Given the description of an element on the screen output the (x, y) to click on. 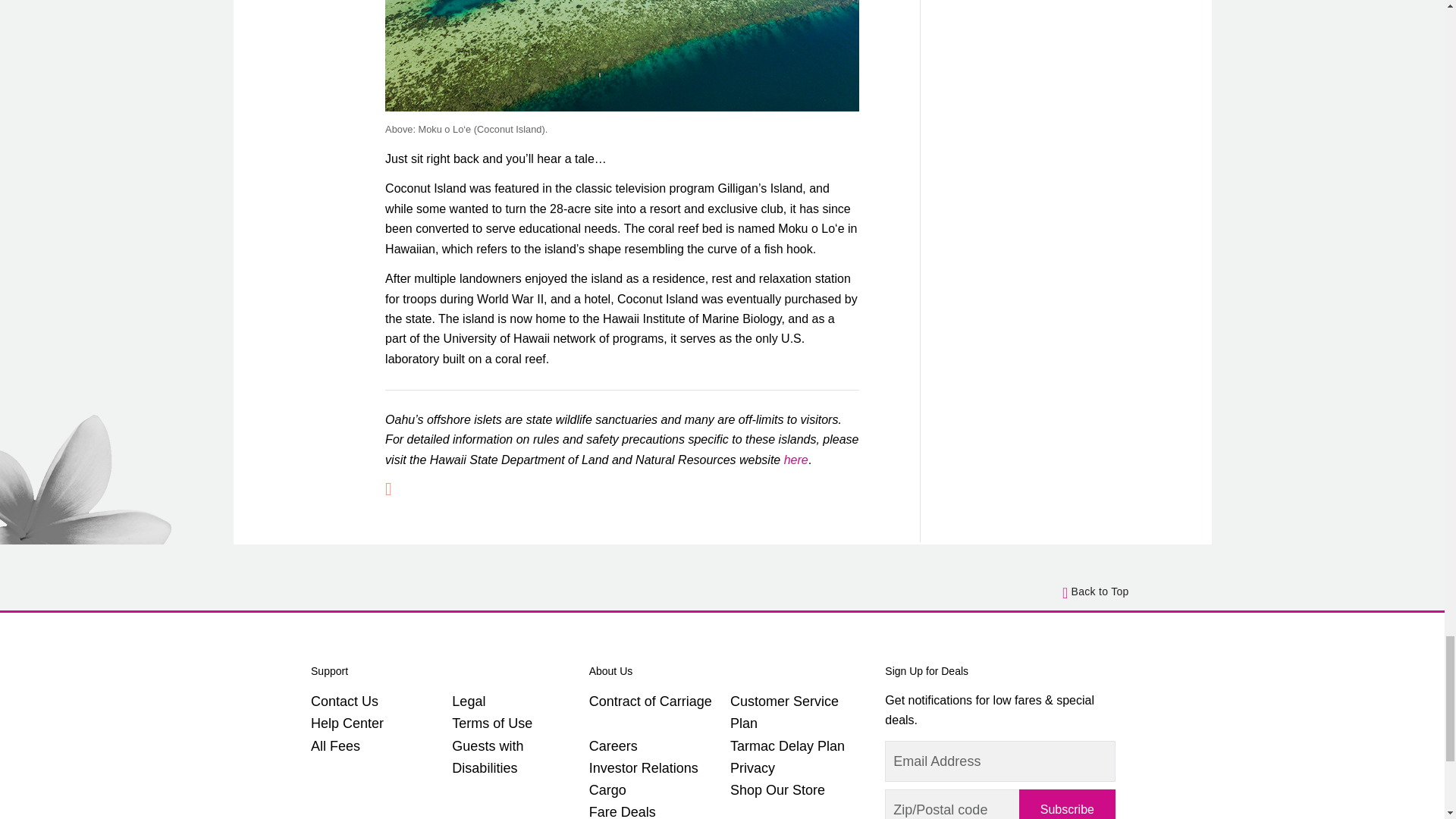
Contact Us (344, 701)
Legal (467, 701)
Back to Top (1095, 590)
